Given the description of an element on the screen output the (x, y) to click on. 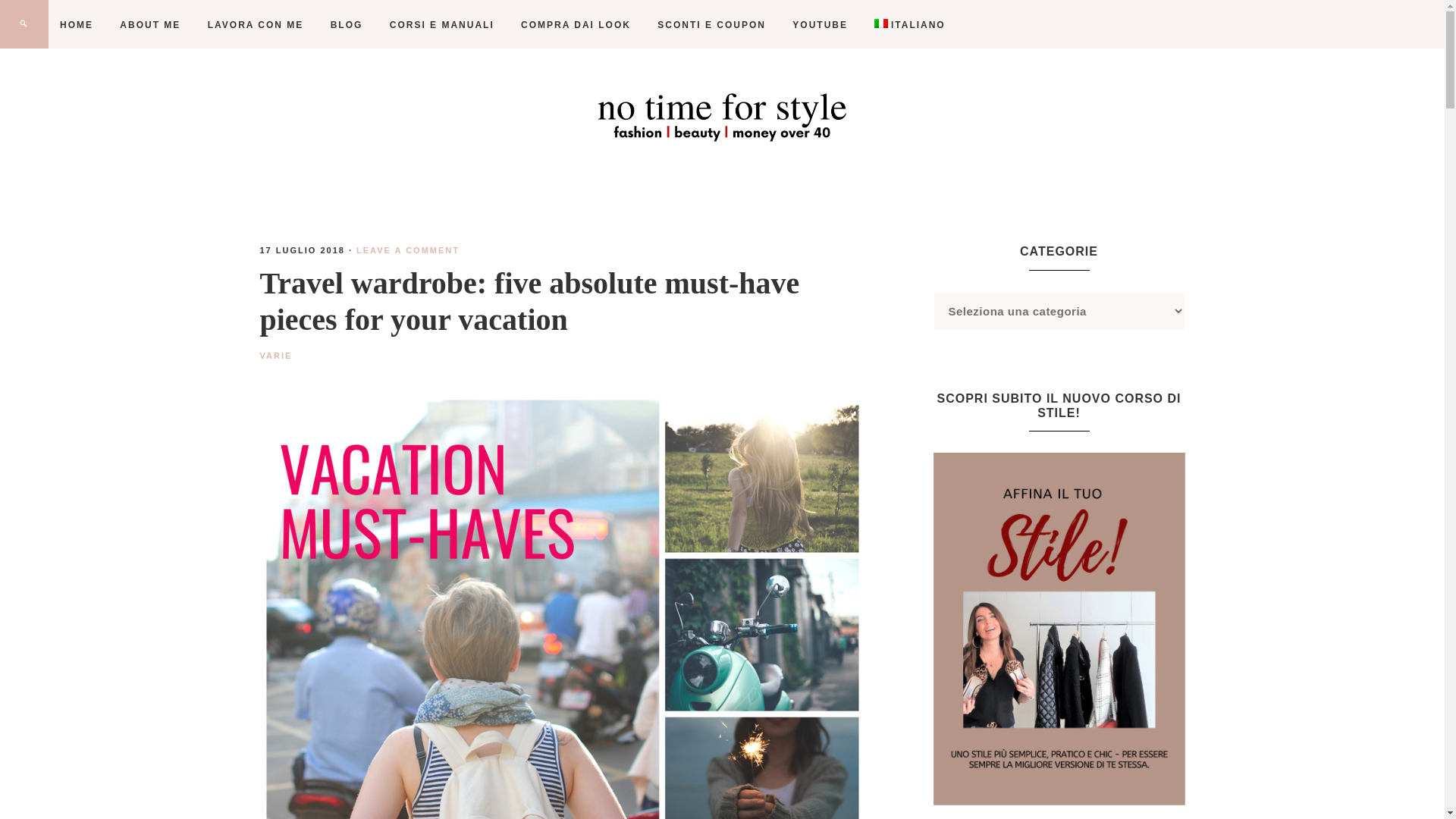
ABOUT ME (149, 24)
BLOG (346, 24)
SCONTI E COUPON (711, 24)
LEAVE A COMMENT (408, 249)
Italiano (909, 24)
HOME (76, 24)
CORSI E MANUALI (441, 24)
ITALIANO (909, 24)
VARIE (275, 355)
COMPRA DAI LOOK (575, 24)
